Given the description of an element on the screen output the (x, y) to click on. 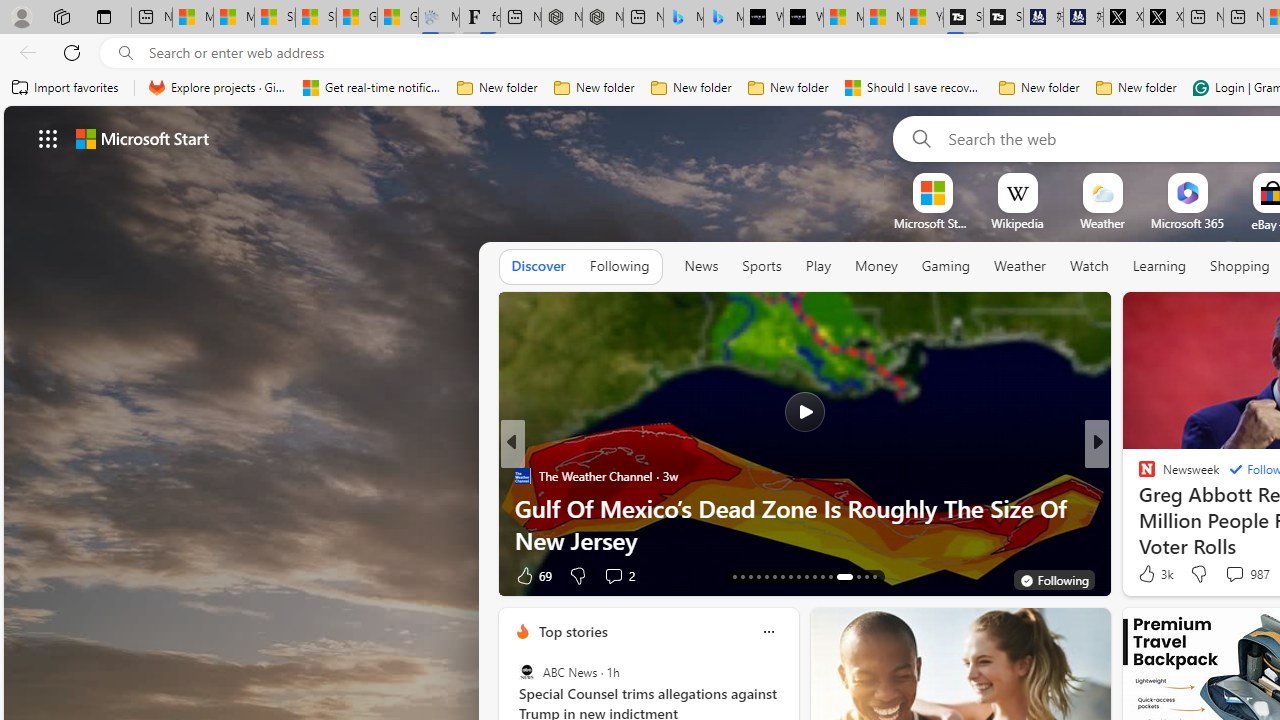
Microsoft start (142, 138)
AutomationID: tab-23 (814, 576)
Sports (761, 267)
Class: icon-img (768, 632)
AutomationID: tab-22 (806, 576)
Play (817, 265)
New folder (1136, 88)
More options (768, 631)
AutomationID: tab-13 (733, 576)
Wikipedia (1017, 223)
View comments 17 Comment (1244, 574)
Following (619, 267)
